Given the description of an element on the screen output the (x, y) to click on. 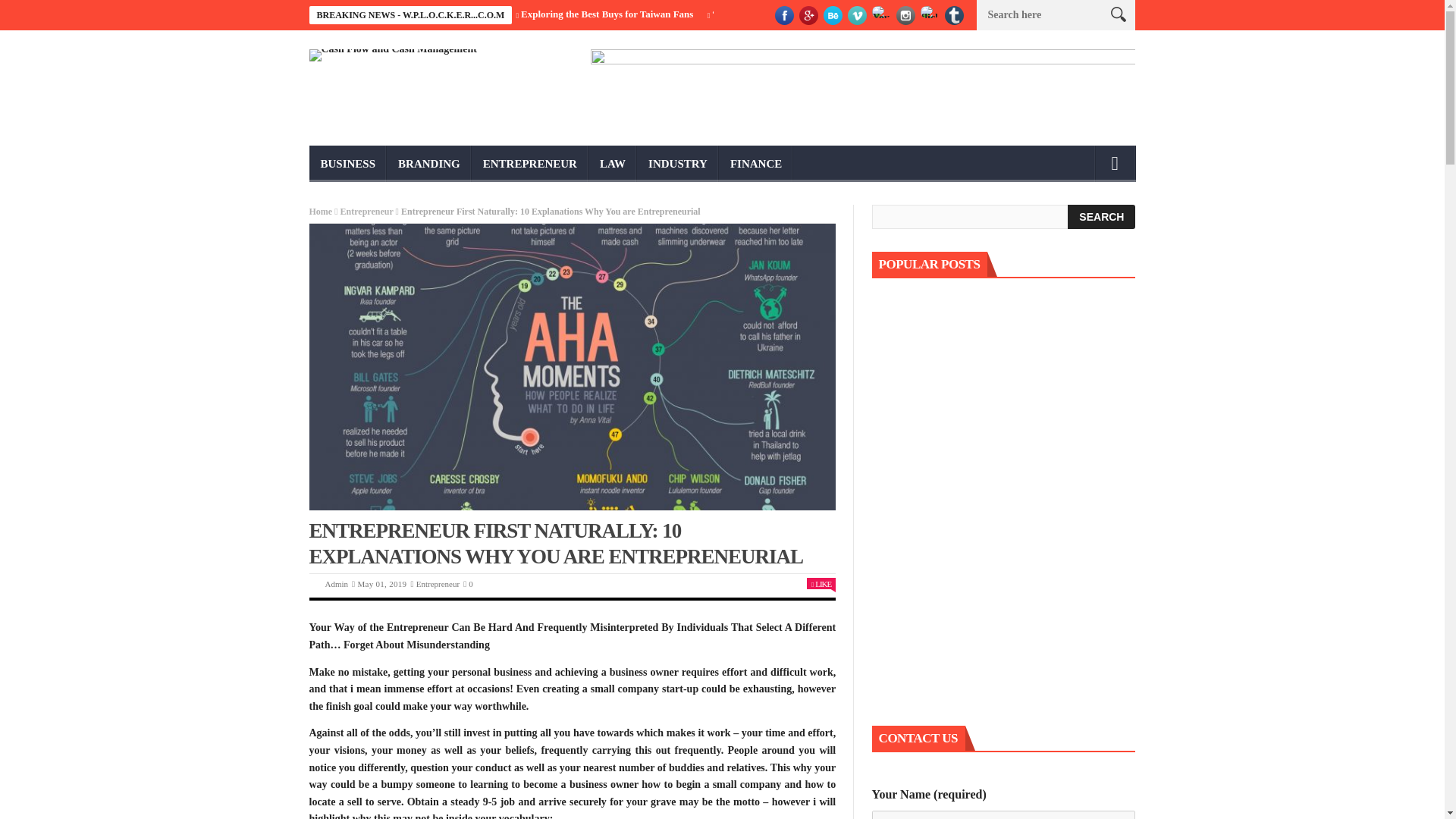
INDUSTRY (678, 163)
Home (320, 211)
ENTREPRENEUR (529, 163)
FINANCE (756, 163)
LIKE (820, 583)
BUSINESS (347, 163)
Posts by admin (335, 583)
Entrepreneur (366, 211)
Exploring the Best Buys for Taiwan Fans  (608, 14)
Entrepreneur (438, 583)
Admin (335, 583)
Search (1101, 216)
LAW (612, 163)
0 (468, 583)
Like (820, 583)
